Given the description of an element on the screen output the (x, y) to click on. 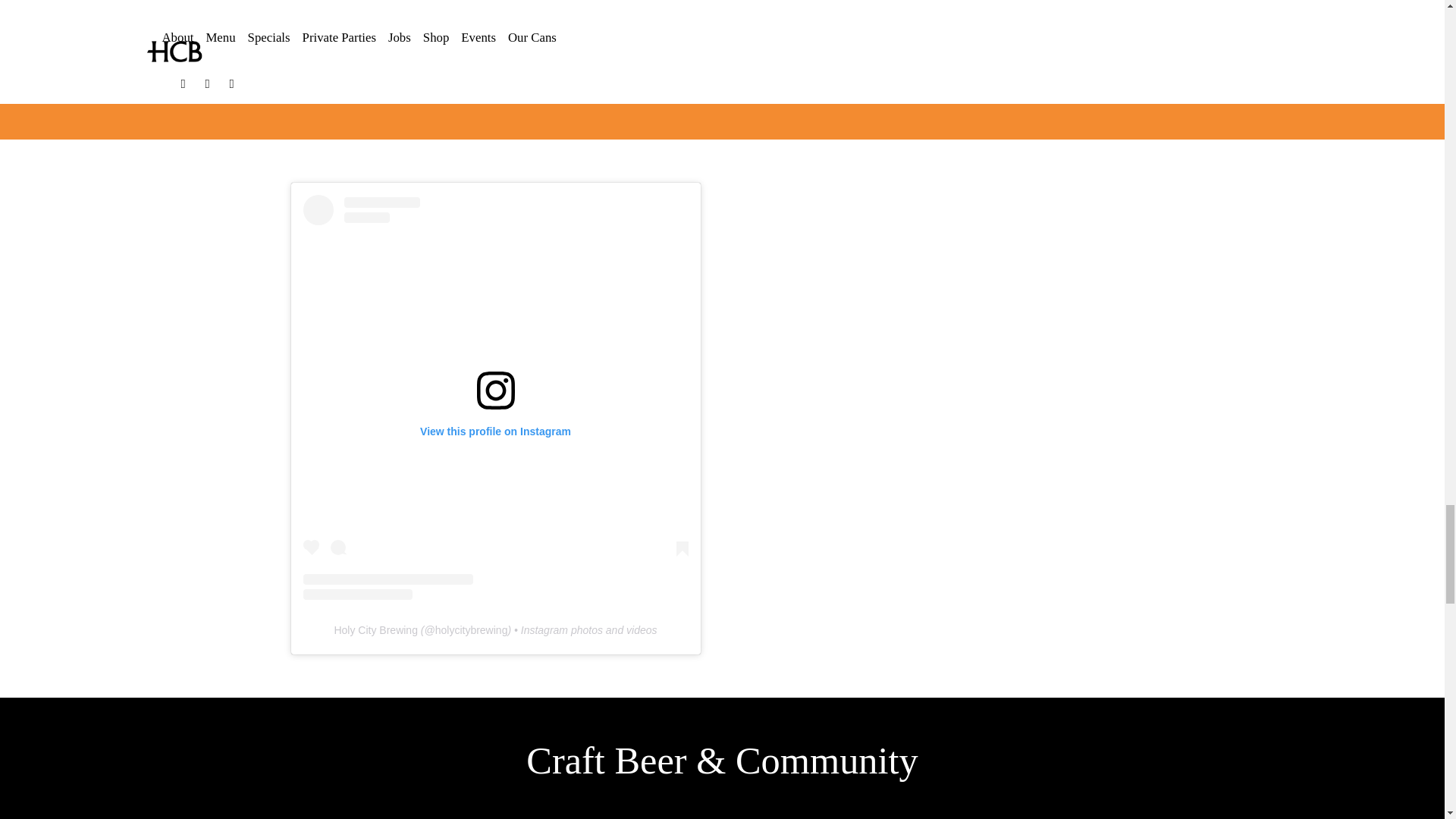
holycitybrewing (471, 630)
Apply Now (722, 64)
Holy City Brewing (374, 630)
